Given the description of an element on the screen output the (x, y) to click on. 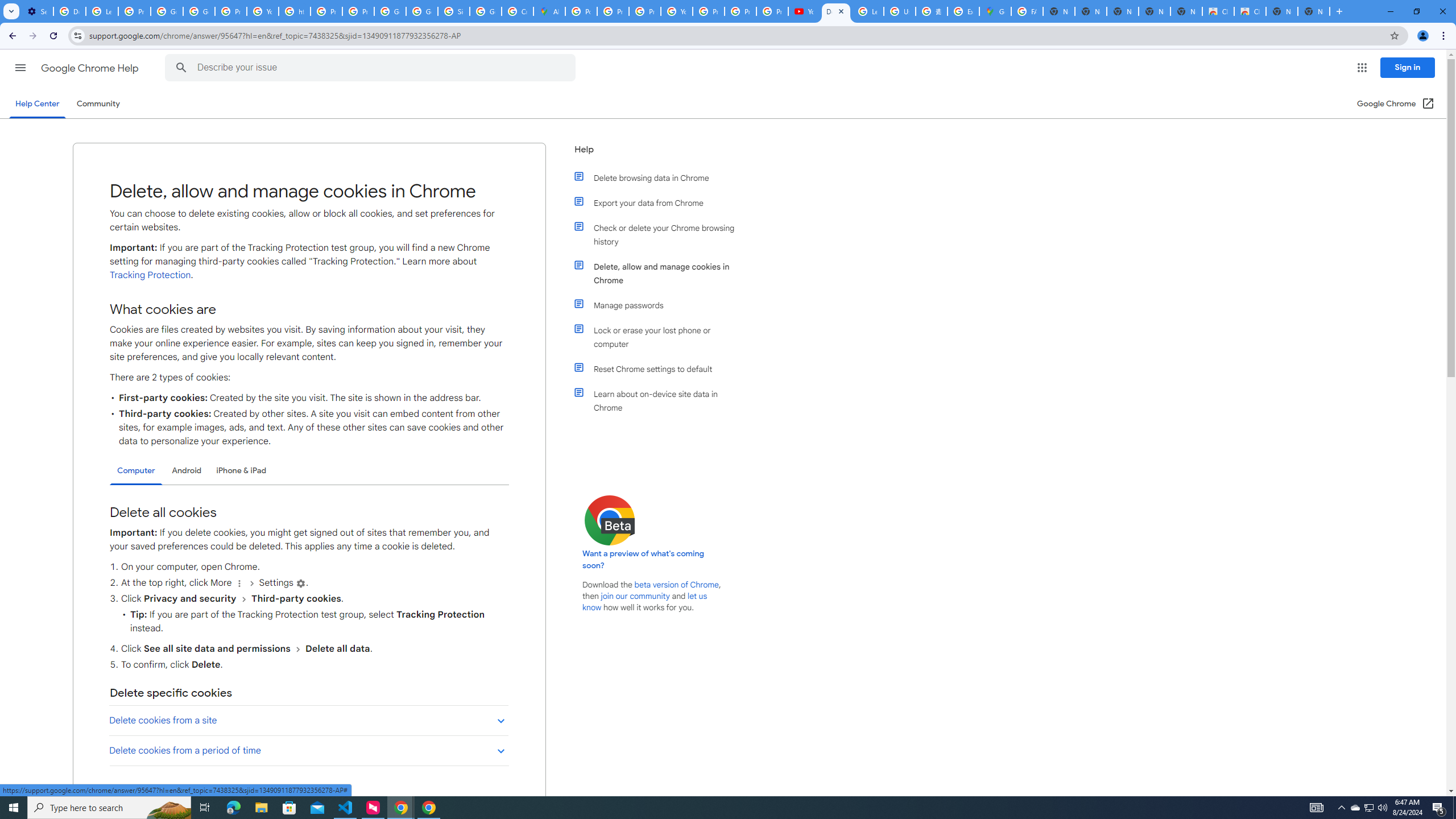
Delete, allow and manage cookies in Chrome (661, 273)
Export your data from Chrome (661, 202)
Google Account Help (198, 11)
Google Maps (995, 11)
beta version of Chrome (676, 584)
Want a preview of what's coming soon? (643, 559)
Community (97, 103)
YouTube (676, 11)
